Given the description of an element on the screen output the (x, y) to click on. 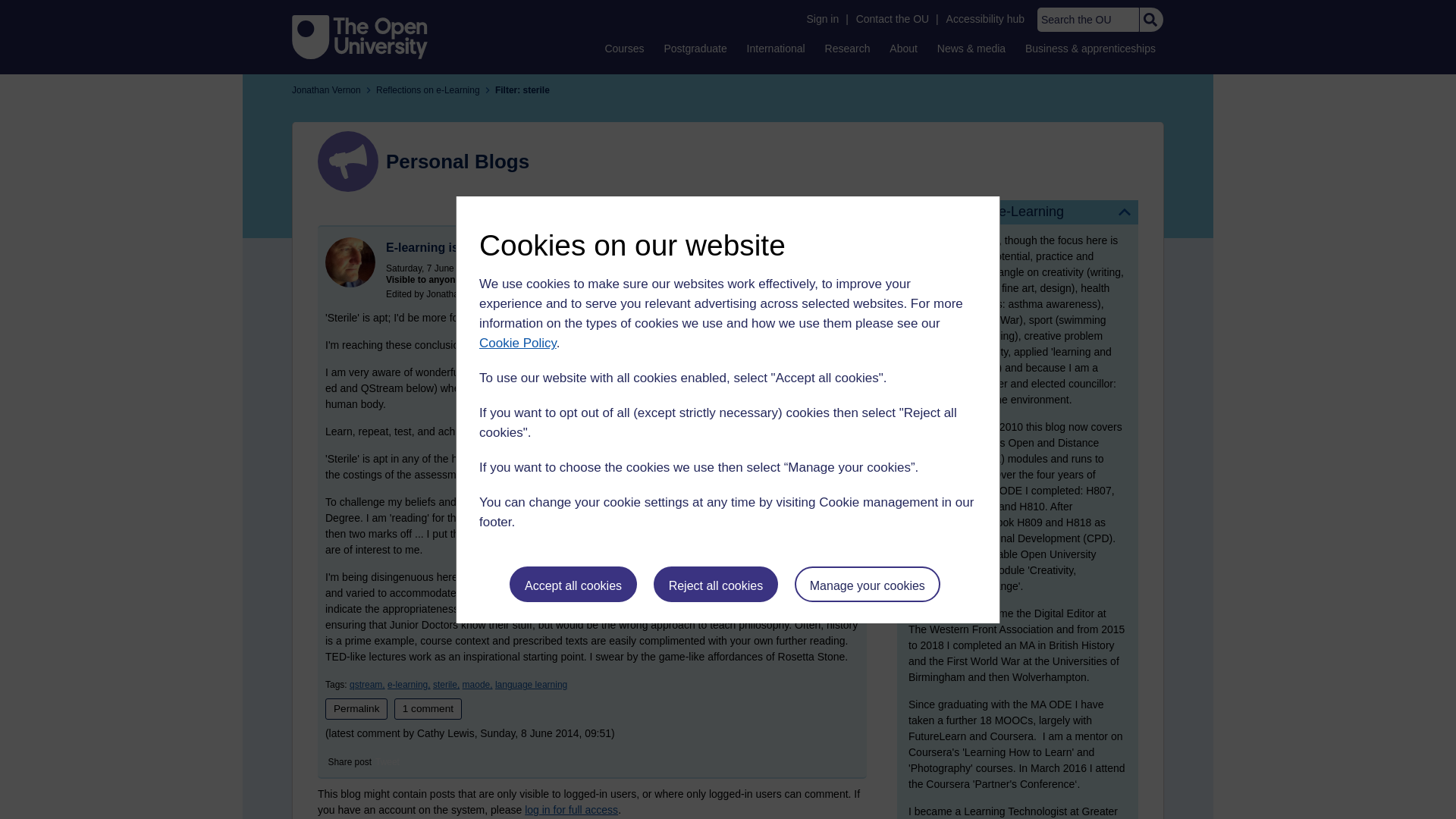
Contact the OU (892, 19)
Manage your cookies (867, 583)
The Open University (360, 36)
Research (847, 48)
Courses (623, 48)
Reflections on e-Learning (1017, 211)
Reject all cookies (715, 583)
Search (1149, 19)
International (775, 48)
Postgraduate (695, 48)
Sign in (822, 19)
Search (1149, 19)
About (903, 48)
Accessibility hub (985, 19)
